Given the description of an element on the screen output the (x, y) to click on. 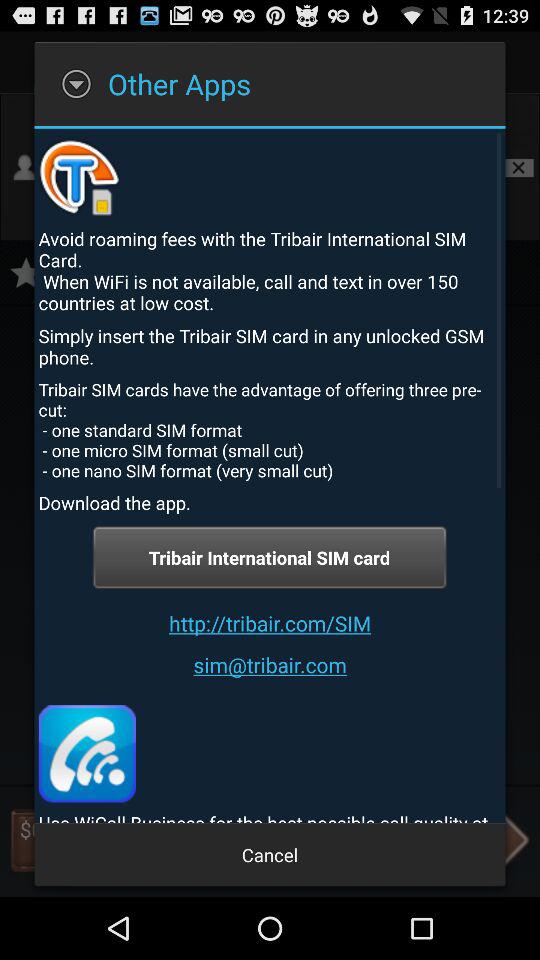
jump until the cancel (269, 854)
